Given the description of an element on the screen output the (x, y) to click on. 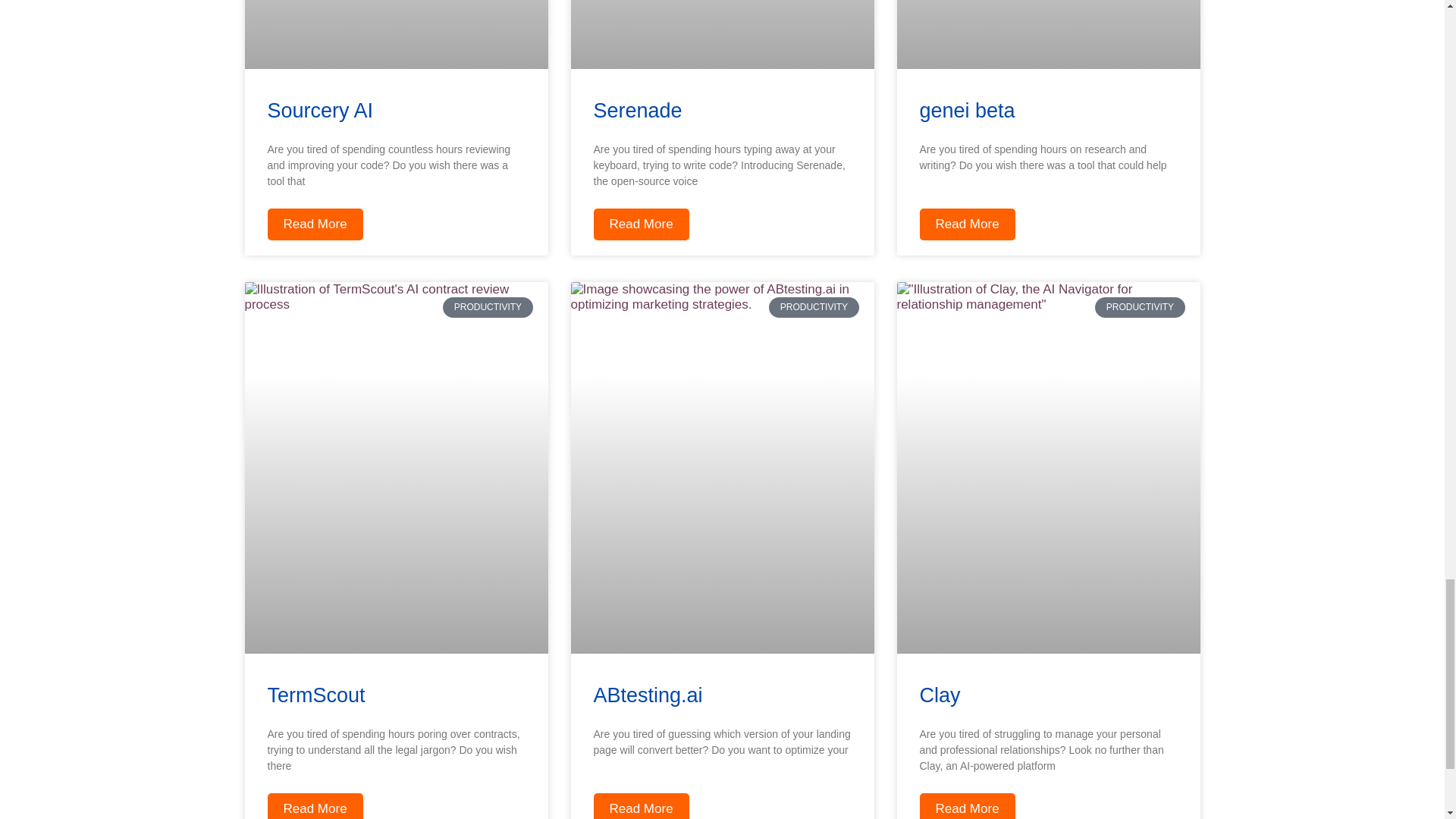
Read More (640, 224)
Clay (938, 694)
Read More (966, 806)
Serenade (636, 110)
TermScout (315, 694)
ABtesting.ai (646, 694)
Read More (966, 224)
Read More (314, 224)
genei beta (966, 110)
Read More (314, 806)
